Given the description of an element on the screen output the (x, y) to click on. 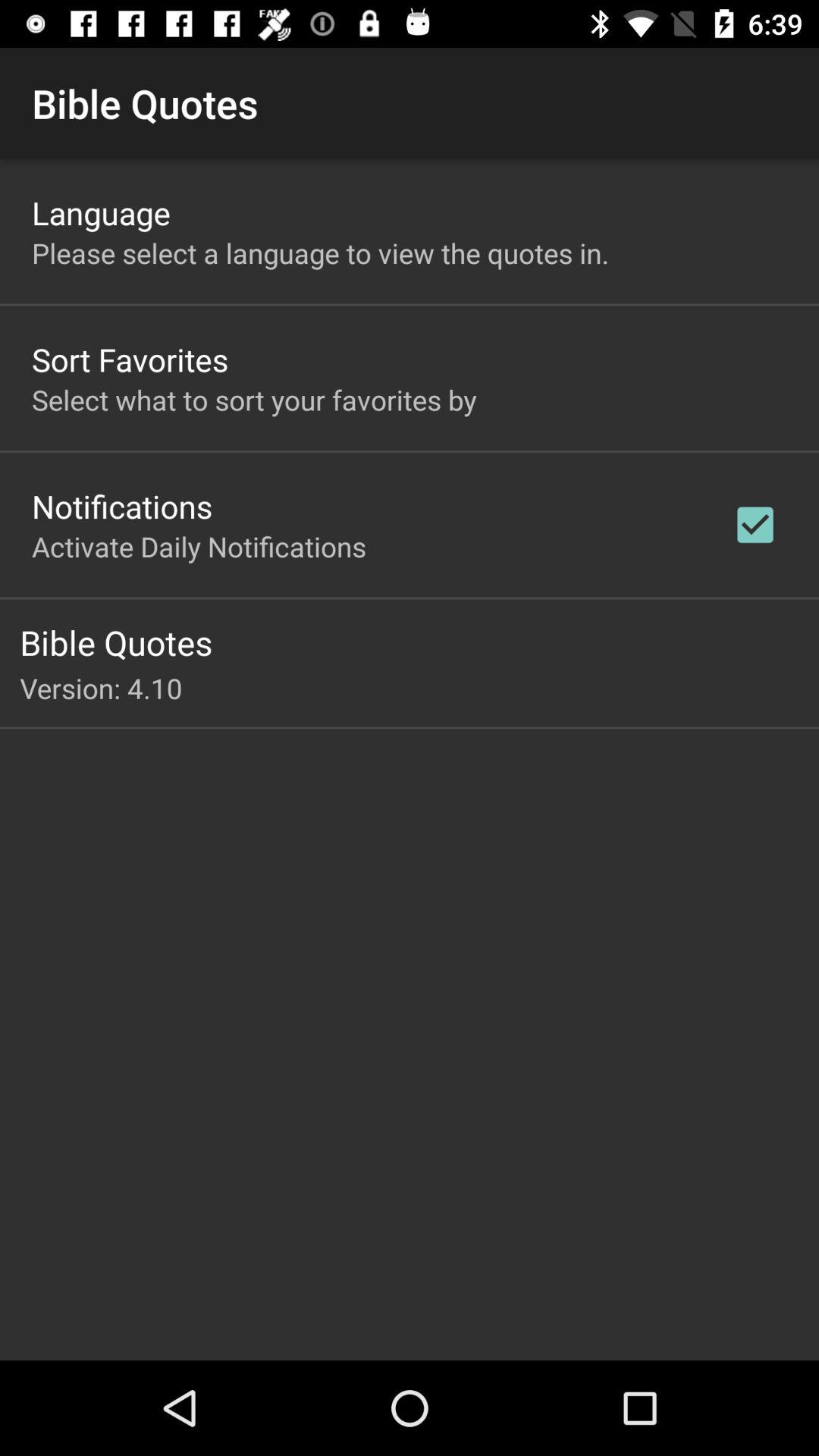
tap the app below bible quotes icon (419, 687)
